Given the description of an element on the screen output the (x, y) to click on. 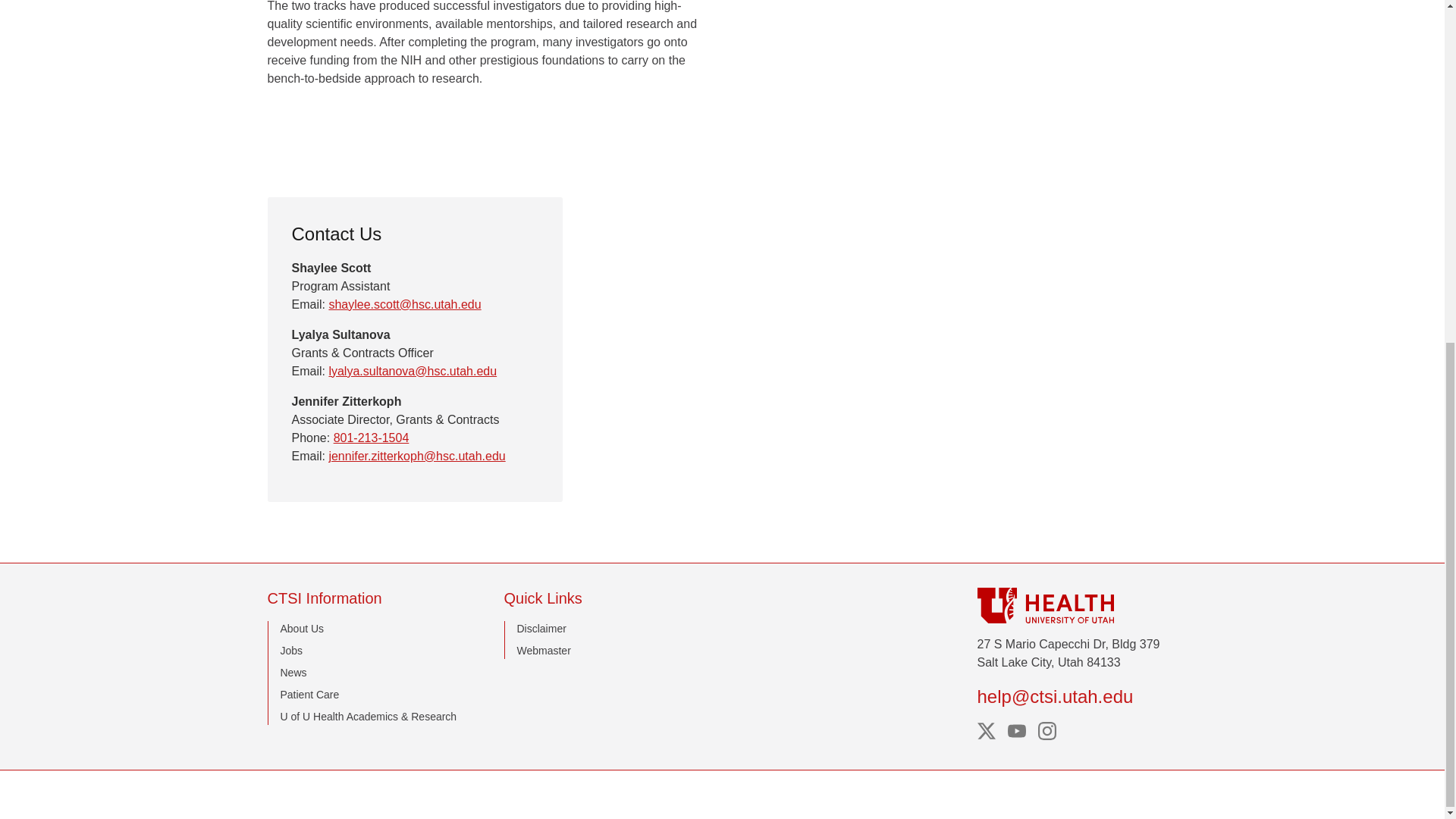
801-213-1504 (371, 437)
University of Utah Healthcare (1076, 605)
News (294, 672)
Webmaster (543, 650)
Jobs (291, 650)
Patient Care (310, 694)
About Us (302, 628)
Disclaimer (541, 628)
